Given the description of an element on the screen output the (x, y) to click on. 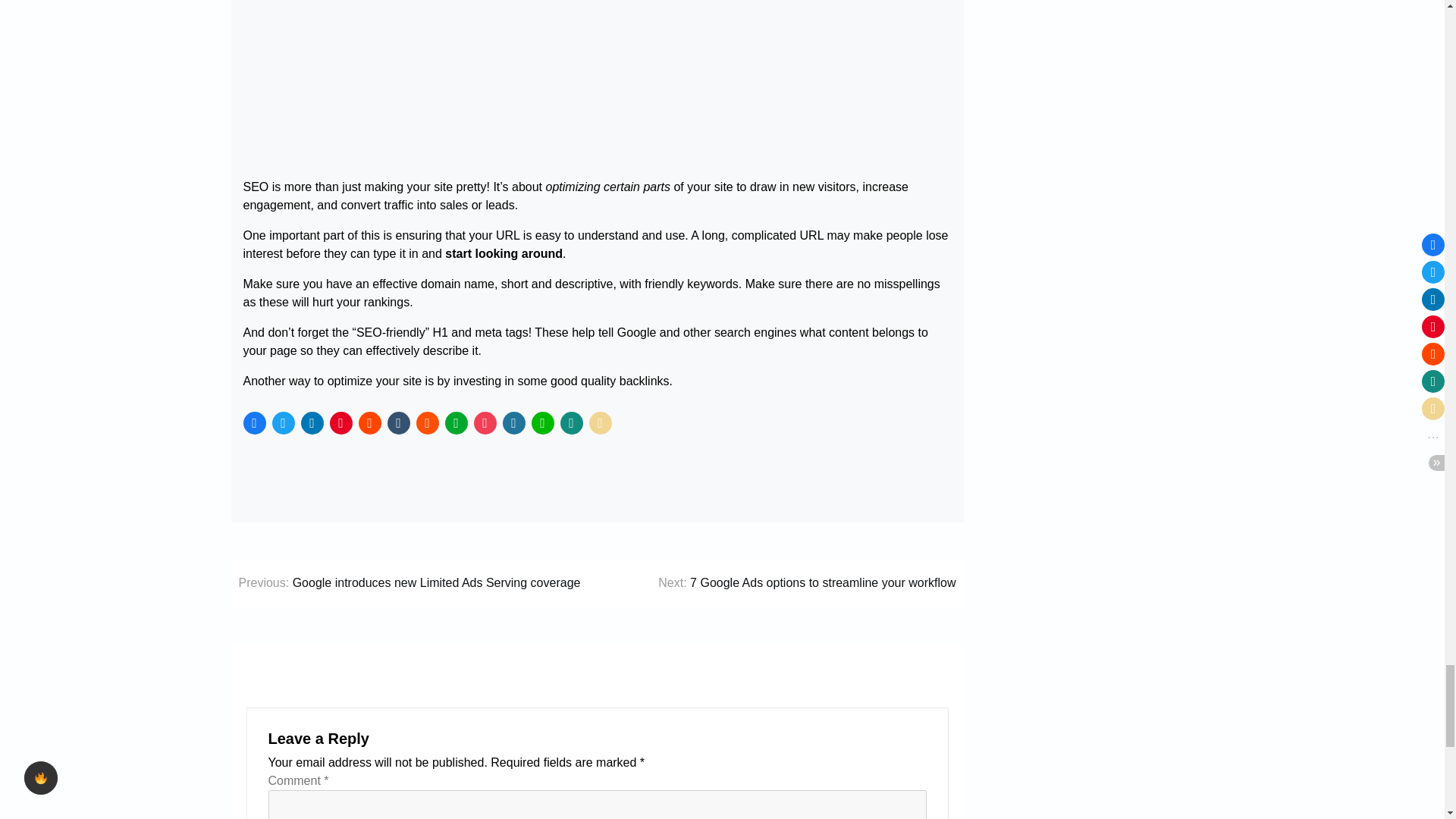
Previous: Google introduces new Limited Ads Serving coverage (408, 583)
YouTube video player (596, 82)
Next: 7 Google Ads options to streamline your workflow (806, 583)
